Given the description of an element on the screen output the (x, y) to click on. 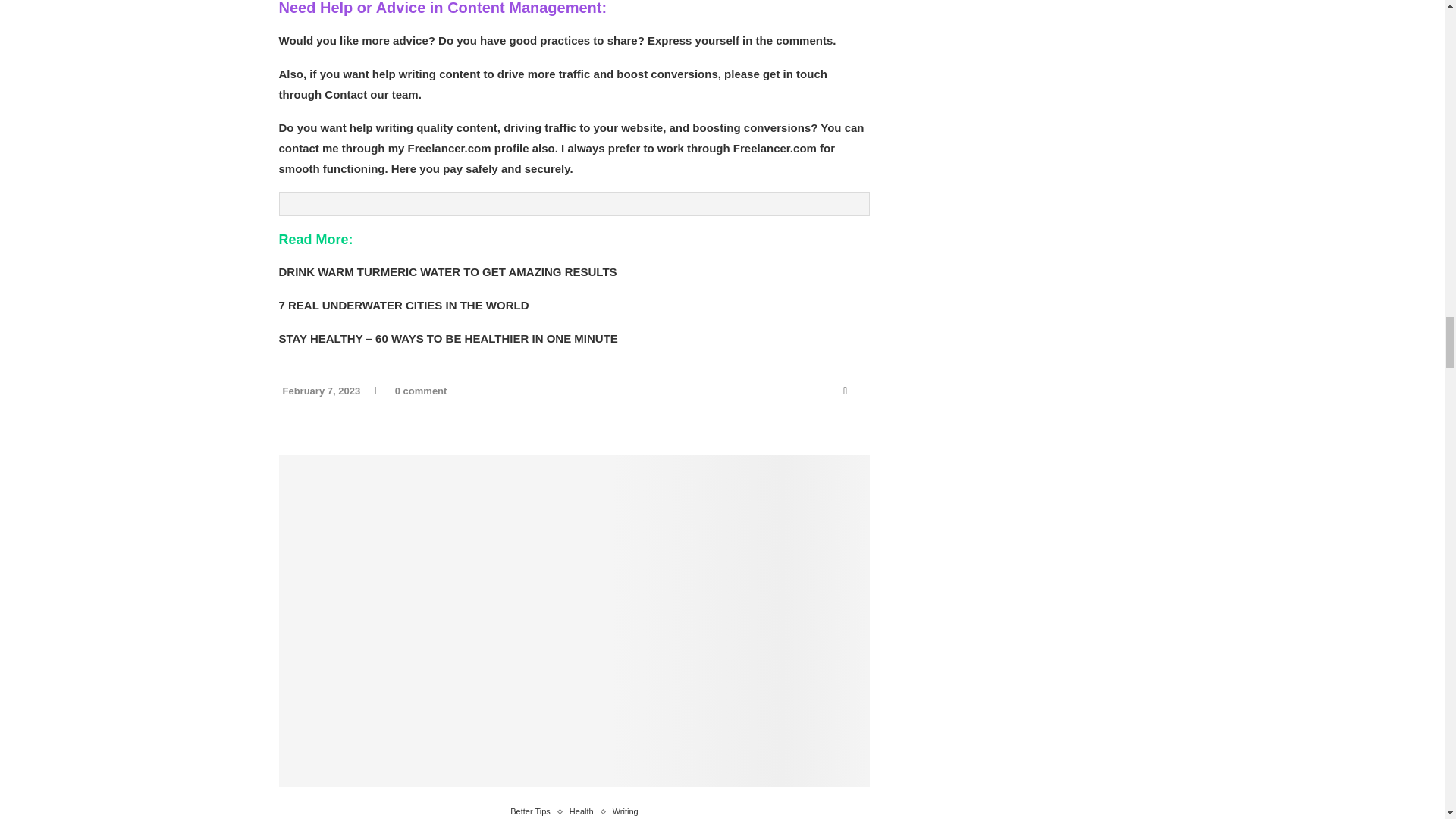
DRINK WARM TURMERIC WATER TO GET AMAZING RESULTS (448, 271)
7 REAL UNDERWATER CITIES IN THE WORLD (404, 305)
0 comment (418, 390)
my Freelancer.com profile (458, 147)
Contact our team (370, 93)
